Given the description of an element on the screen output the (x, y) to click on. 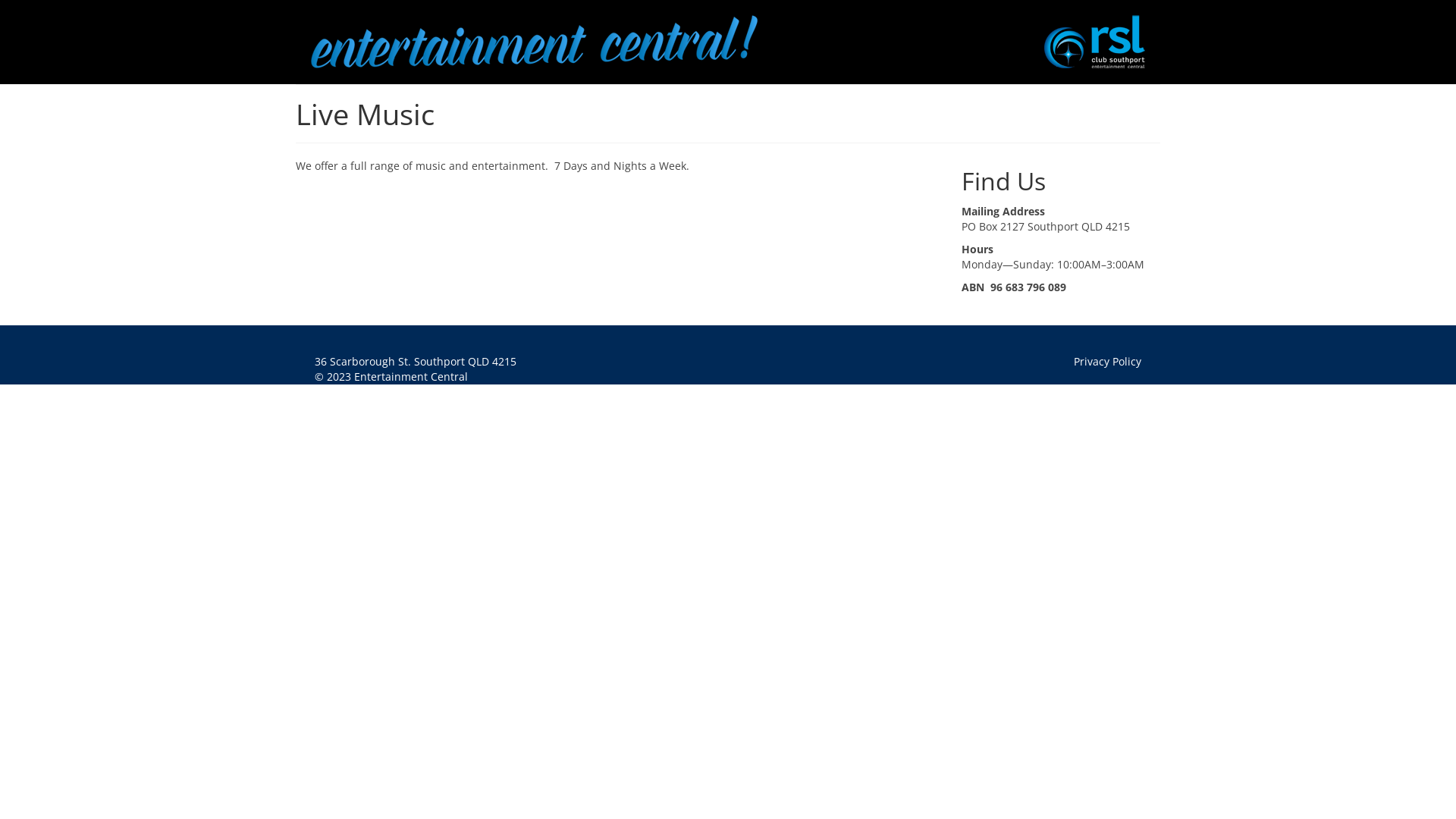
Entertainment Central Element type: hover (602, 41)
Privacy Policy Element type: text (1107, 361)
